Given the description of an element on the screen output the (x, y) to click on. 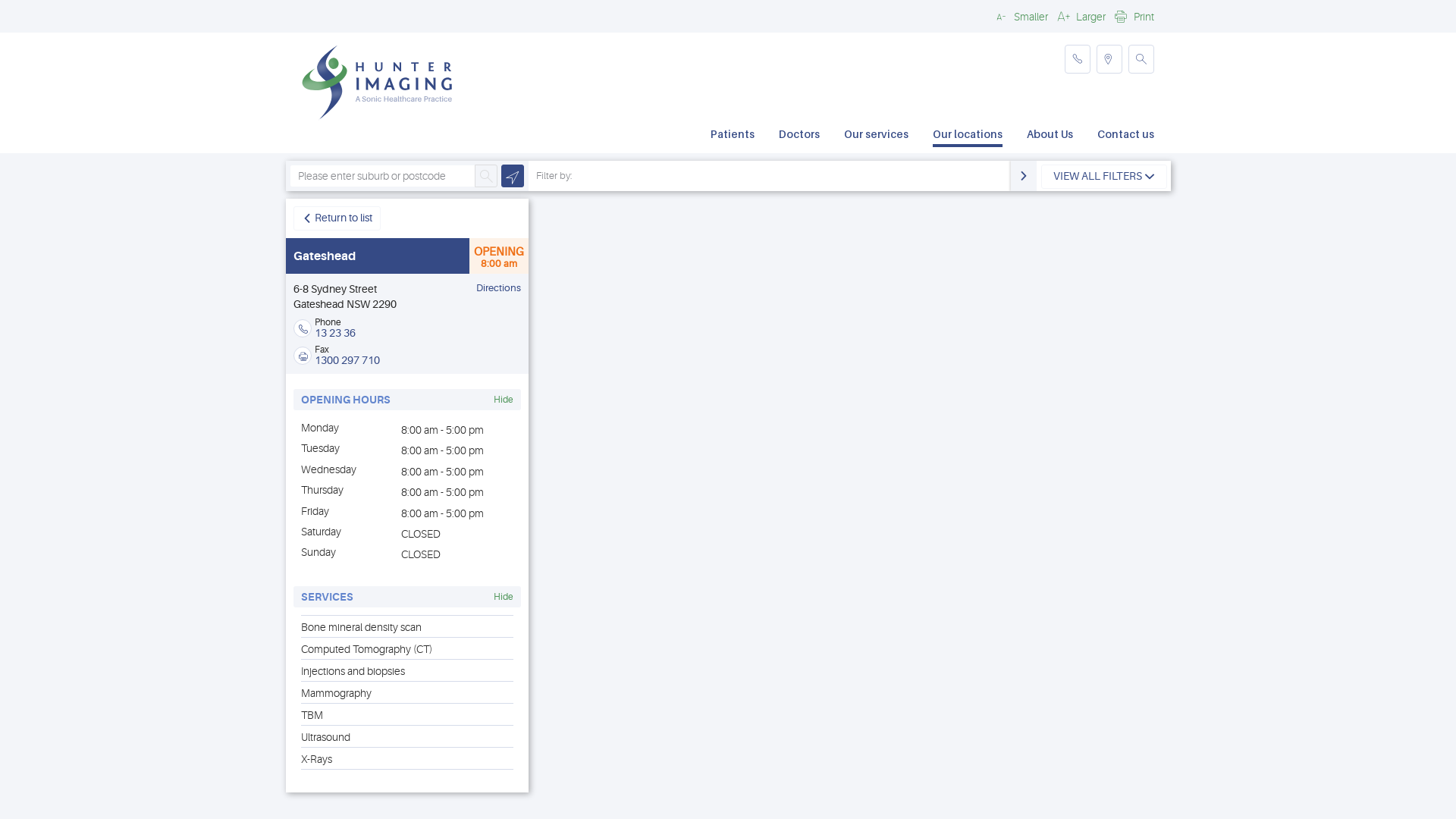
Hide Element type: text (503, 399)
Larger Element type: text (1079, 15)
Patients Element type: text (732, 135)
1300 297 710 Element type: text (346, 360)
Hide Element type: text (503, 596)
VIEW ALL FILTERS Element type: text (1104, 176)
phone Element type: hover (1077, 58)
13 23 36 Element type: text (334, 332)
About Us Element type: text (1049, 135)
Smaller Element type: text (1019, 15)
Our locations Element type: text (967, 135)
Return to list Element type: text (336, 218)
Contact us Element type: text (1125, 135)
Directions Element type: text (498, 287)
Print Element type: text (1132, 15)
Doctors Element type: text (798, 135)
location Element type: hover (1109, 58)
Our services Element type: text (876, 135)
Use current location Element type: hover (512, 175)
